Given the description of an element on the screen output the (x, y) to click on. 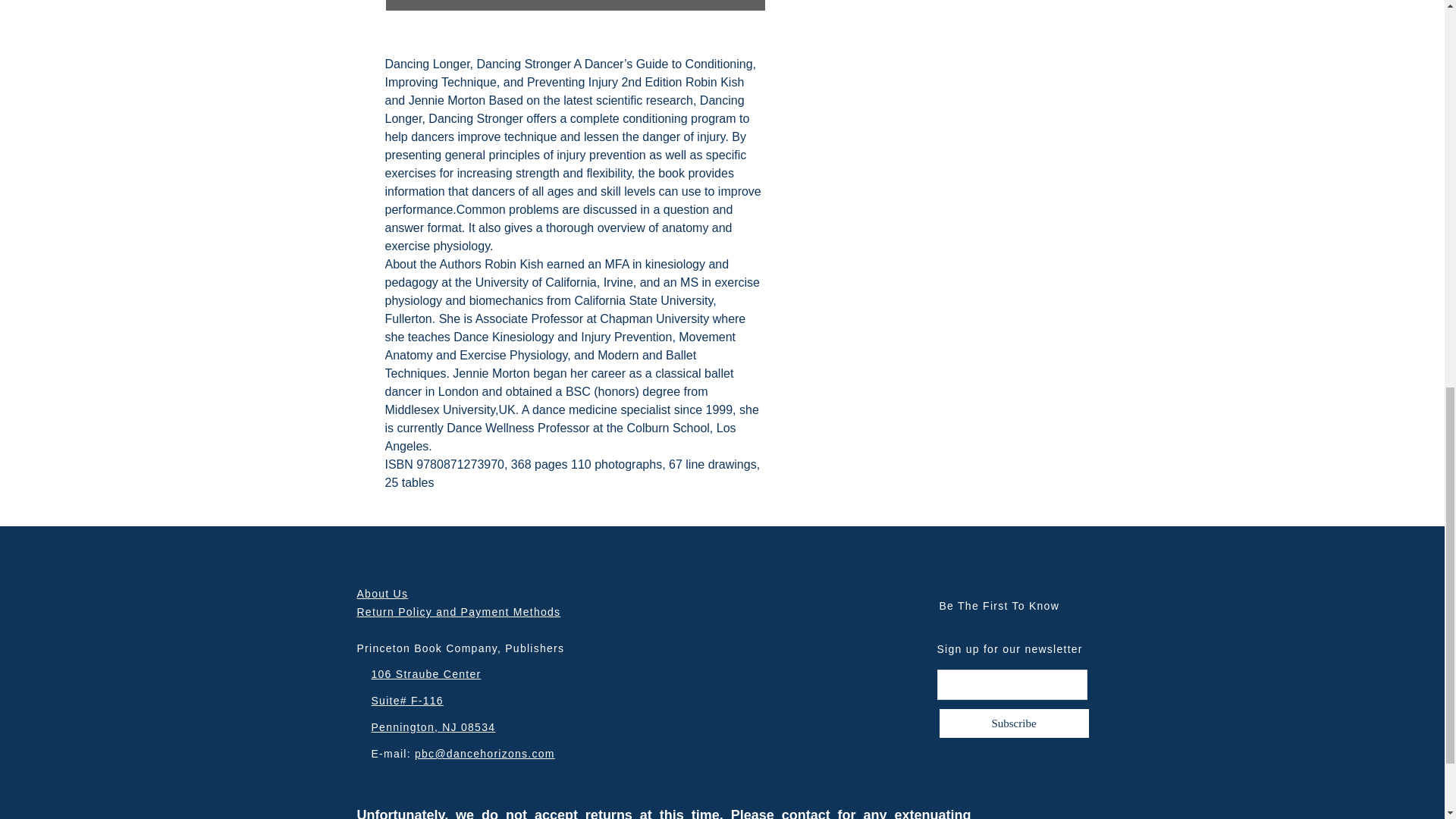
Subscribe (1013, 723)
Return Policy and Payment Methods (458, 612)
About Us (381, 593)
Pennington, NJ 08534 (433, 727)
106 Straube Center (426, 674)
